Given the description of an element on the screen output the (x, y) to click on. 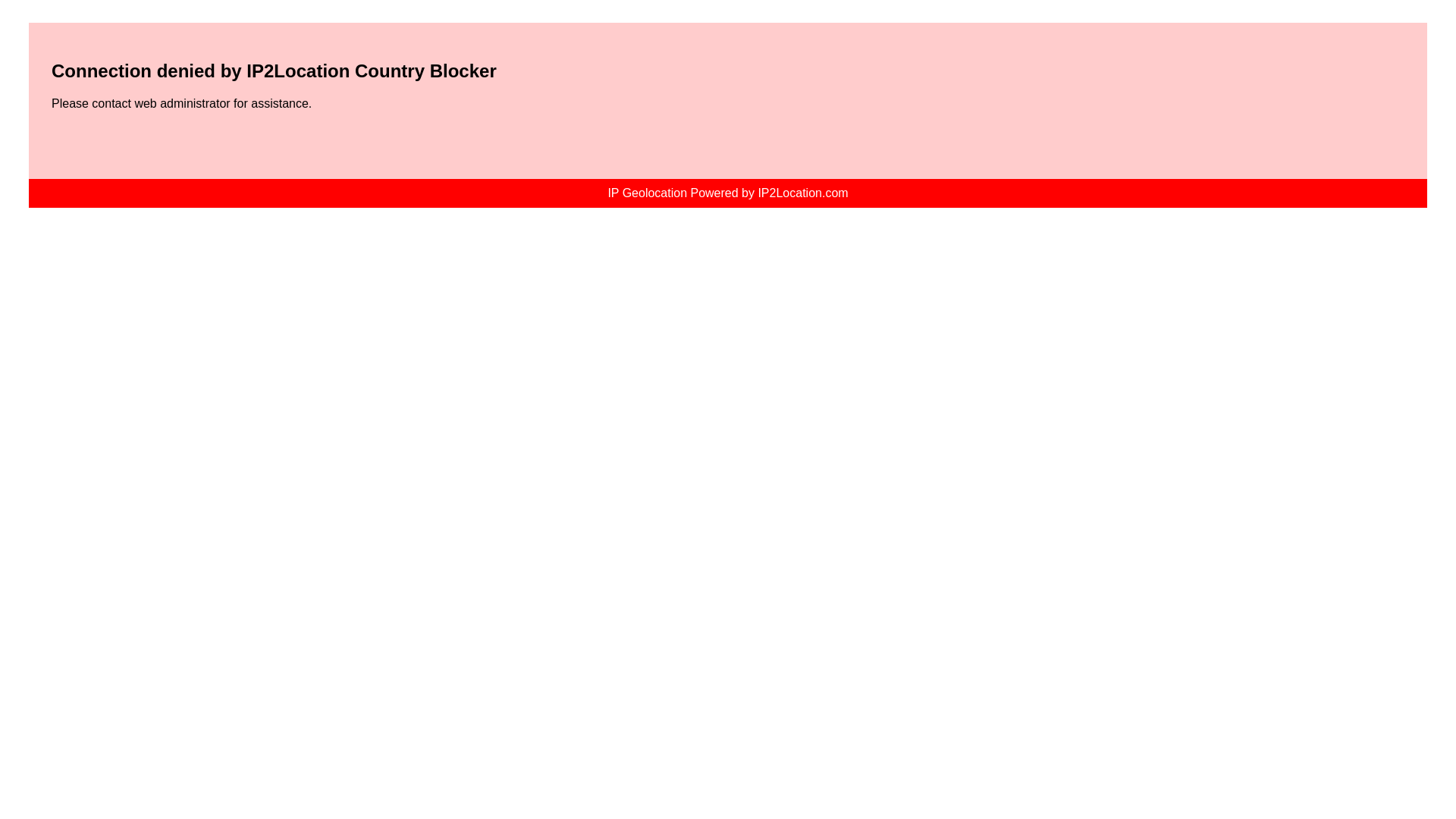
IP Geolocation Powered by IP2Location.com (727, 192)
